Given the description of an element on the screen output the (x, y) to click on. 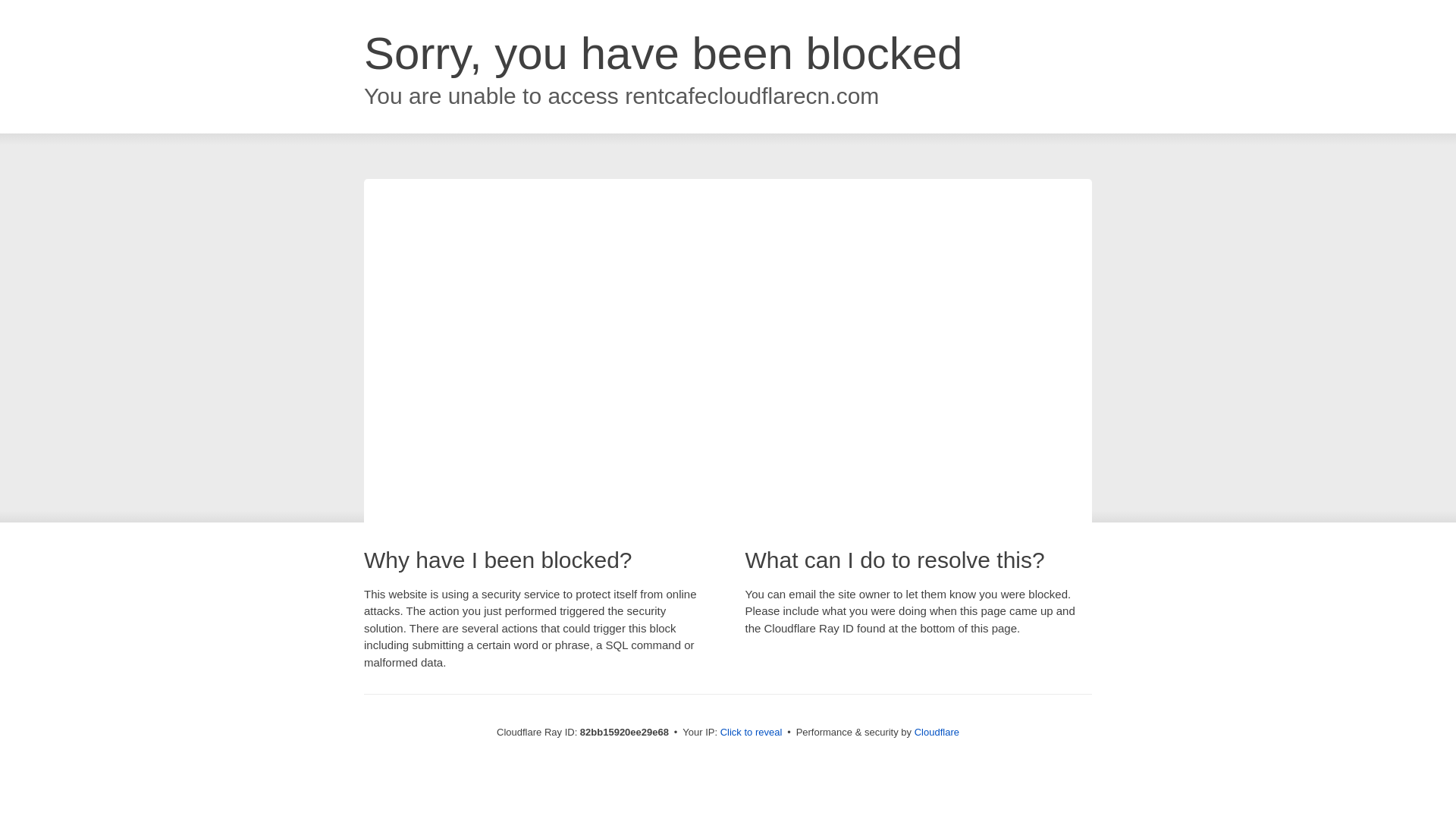
Click to reveal Element type: text (751, 732)
Cloudflare Element type: text (936, 731)
